Given the description of an element on the screen output the (x, y) to click on. 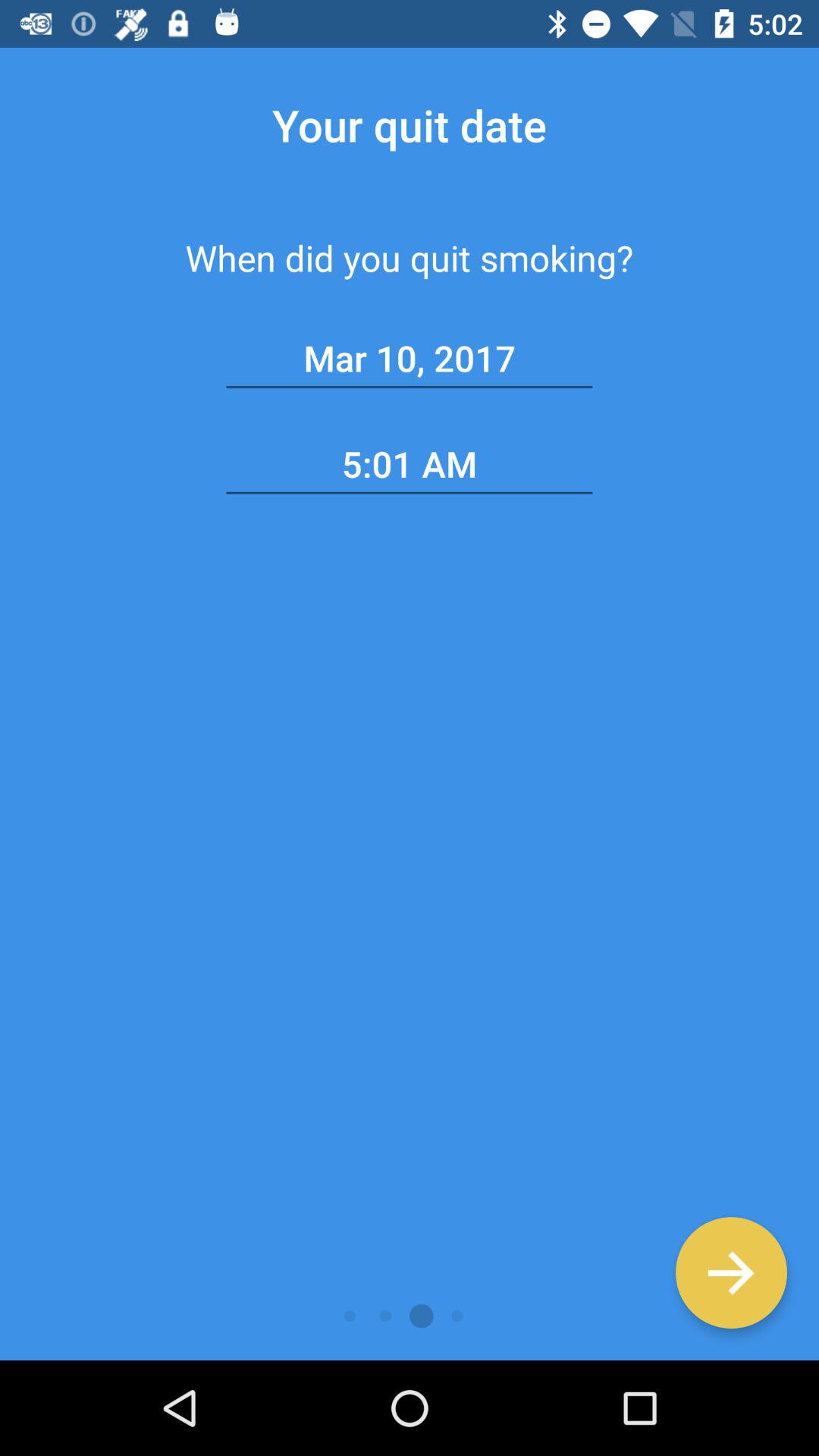
flip to the mar 10, 2017 icon (409, 358)
